Given the description of an element on the screen output the (x, y) to click on. 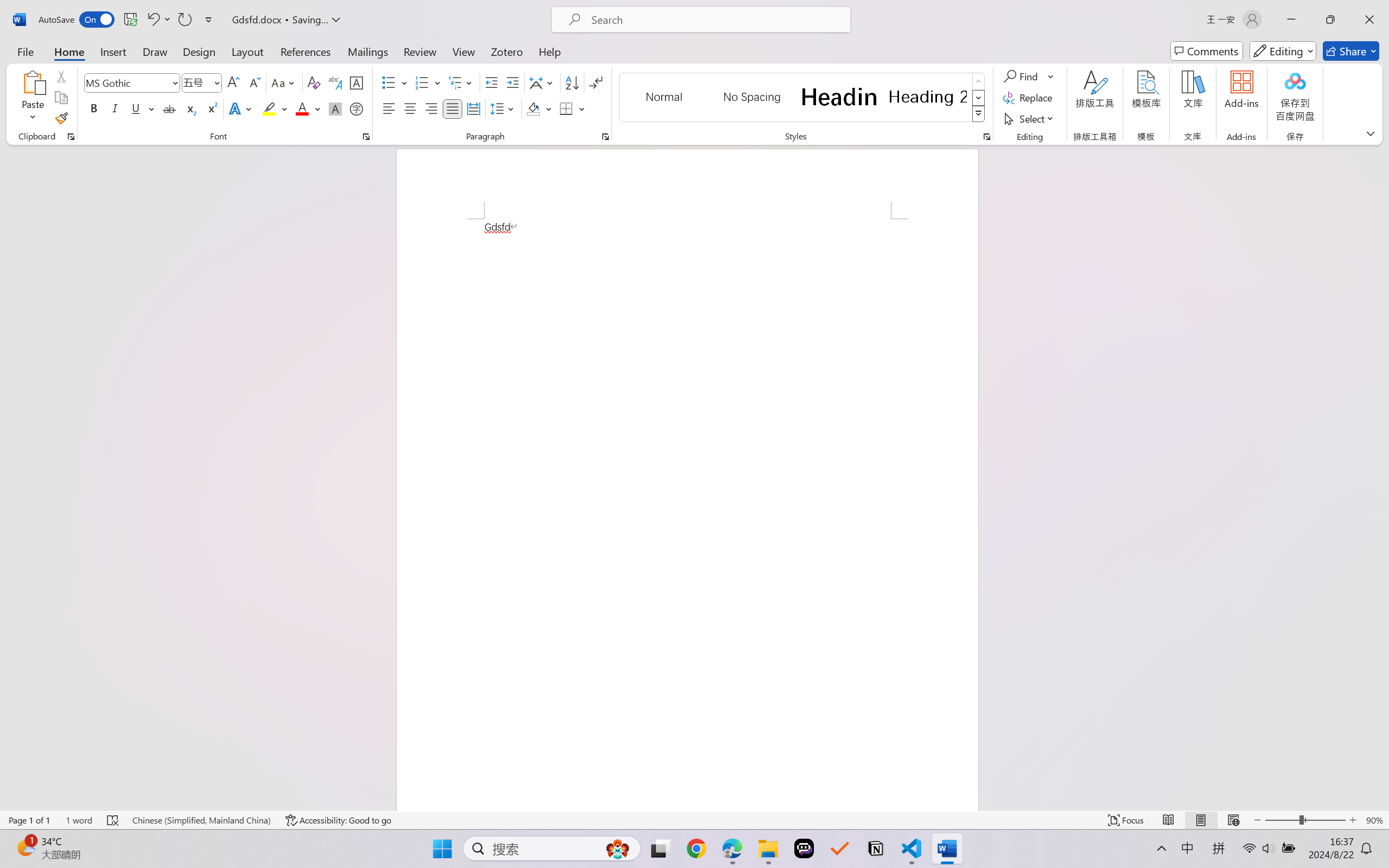
Increase Indent (512, 82)
Microsoft search (715, 19)
Align Left (388, 108)
